Given the description of an element on the screen output the (x, y) to click on. 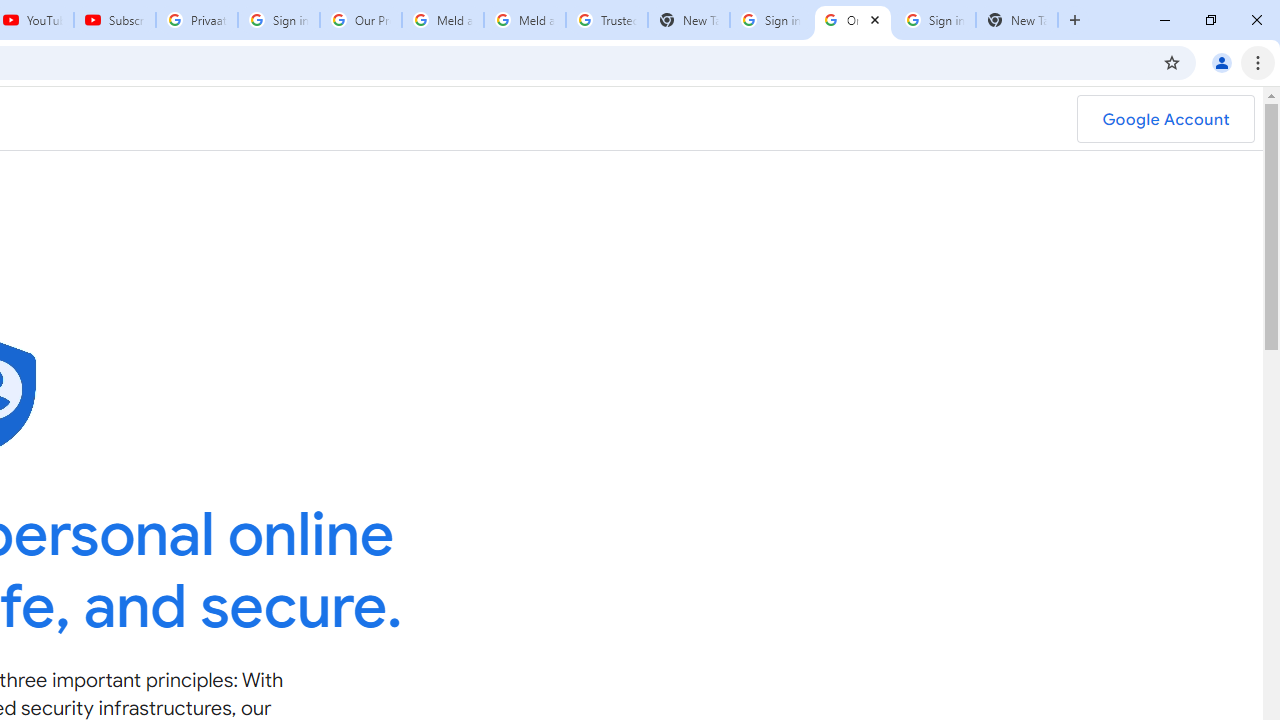
Online Data Security & Privacy - Google Safety Center (852, 20)
New Tab (688, 20)
Subscriptions - YouTube (115, 20)
Sign in - Google Accounts (934, 20)
Google Account (1165, 119)
Sign in - Google Accounts (770, 20)
